Given the description of an element on the screen output the (x, y) to click on. 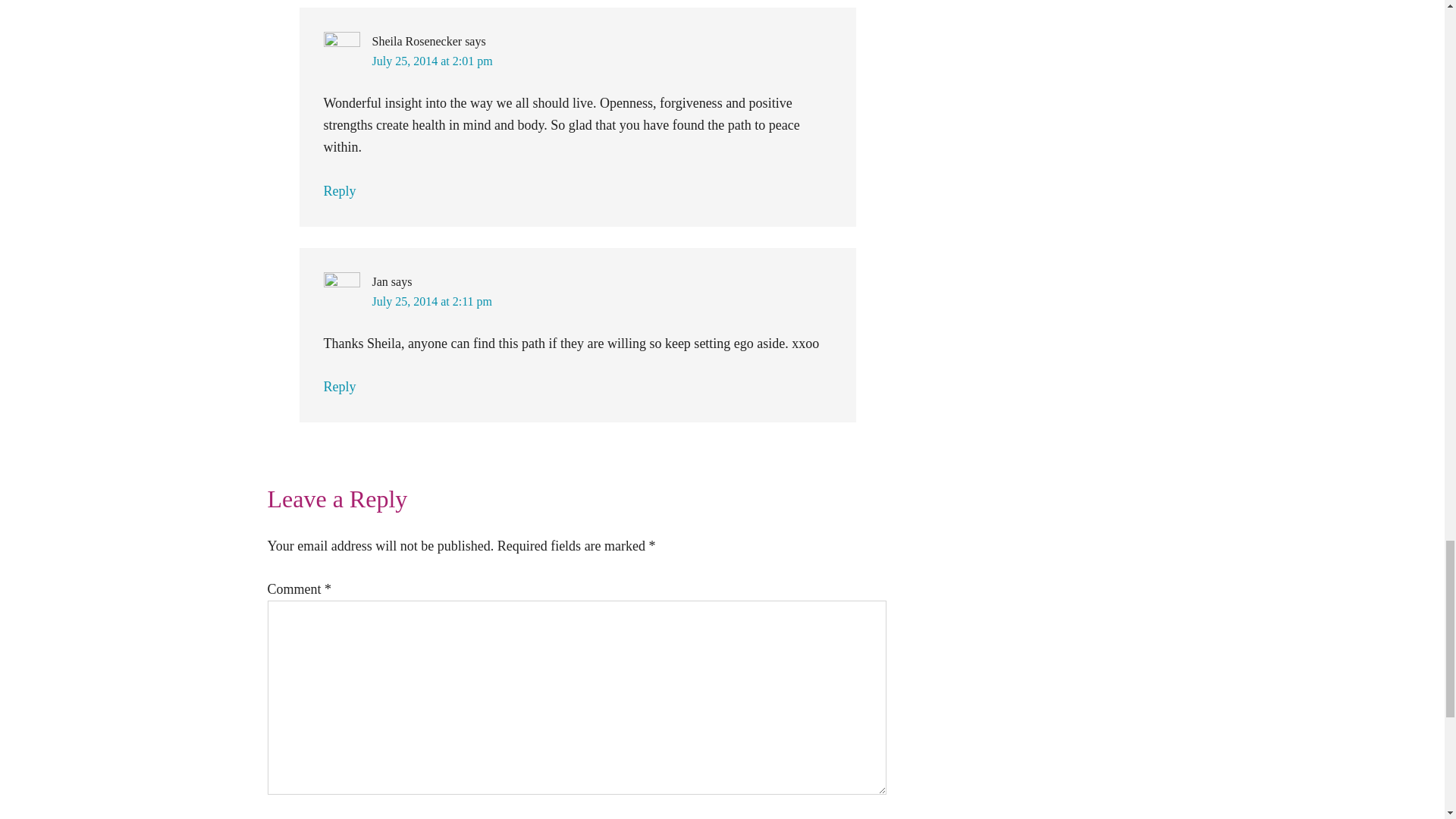
Reply (339, 386)
Reply (339, 191)
July 25, 2014 at 2:01 pm (431, 60)
July 25, 2014 at 2:11 pm (431, 300)
